Given the description of an element on the screen output the (x, y) to click on. 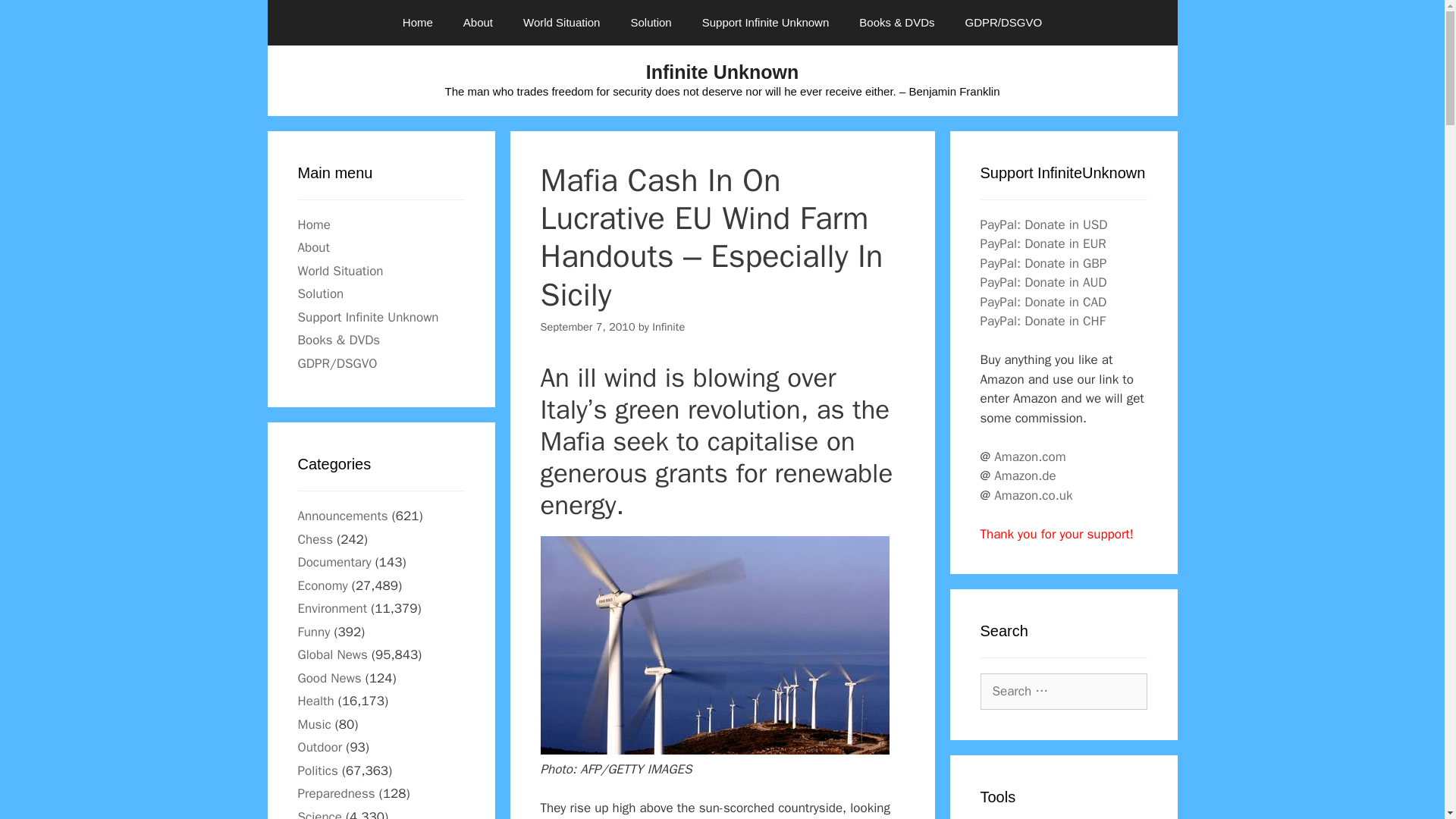
Environment (331, 608)
Support Infinite Unknown (367, 317)
Documentary (334, 562)
Search for: (1063, 691)
Solution (320, 293)
Infinite (668, 326)
World Situation (339, 270)
Economy (322, 585)
Infinite Unknown (721, 71)
About (478, 22)
